Given the description of an element on the screen output the (x, y) to click on. 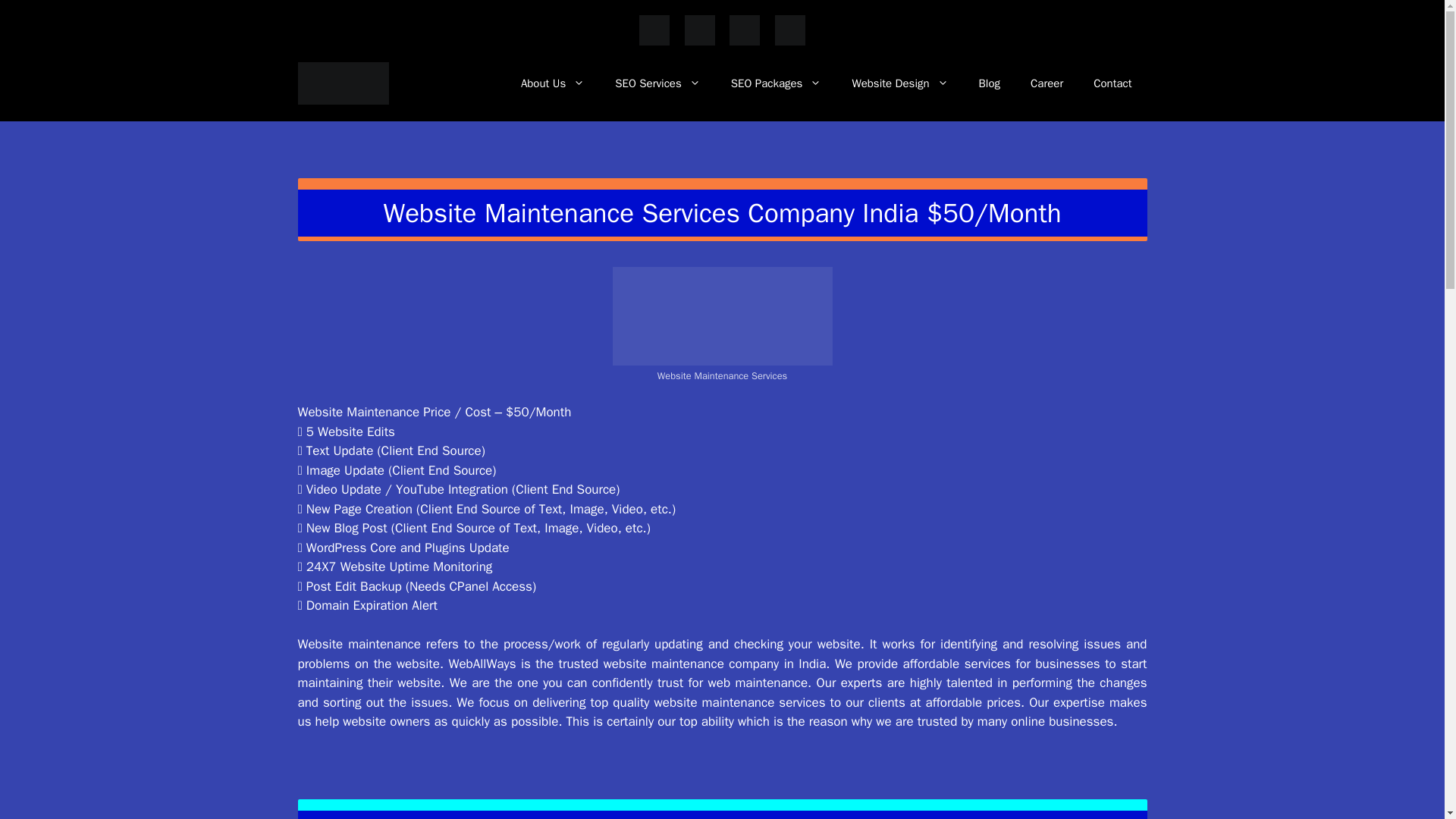
SEO Services (656, 83)
Website Design (898, 83)
skype (789, 42)
9971084988 (699, 42)
Call (699, 30)
Email (744, 30)
SEO Packages (776, 83)
About Us (552, 83)
email (744, 42)
Skype (789, 30)
